Given the description of an element on the screen output the (x, y) to click on. 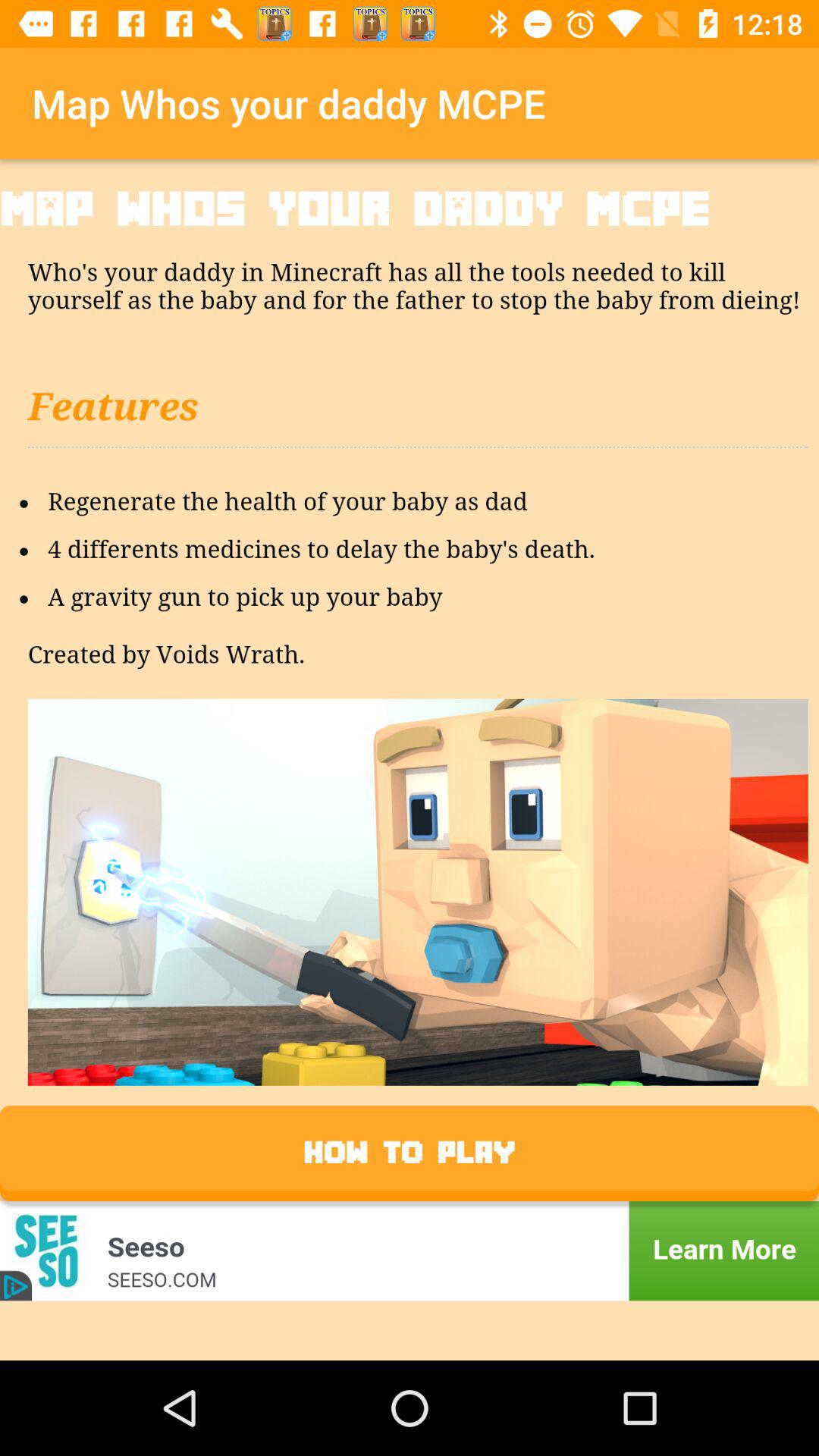
advertisement (409, 1250)
